Given the description of an element on the screen output the (x, y) to click on. 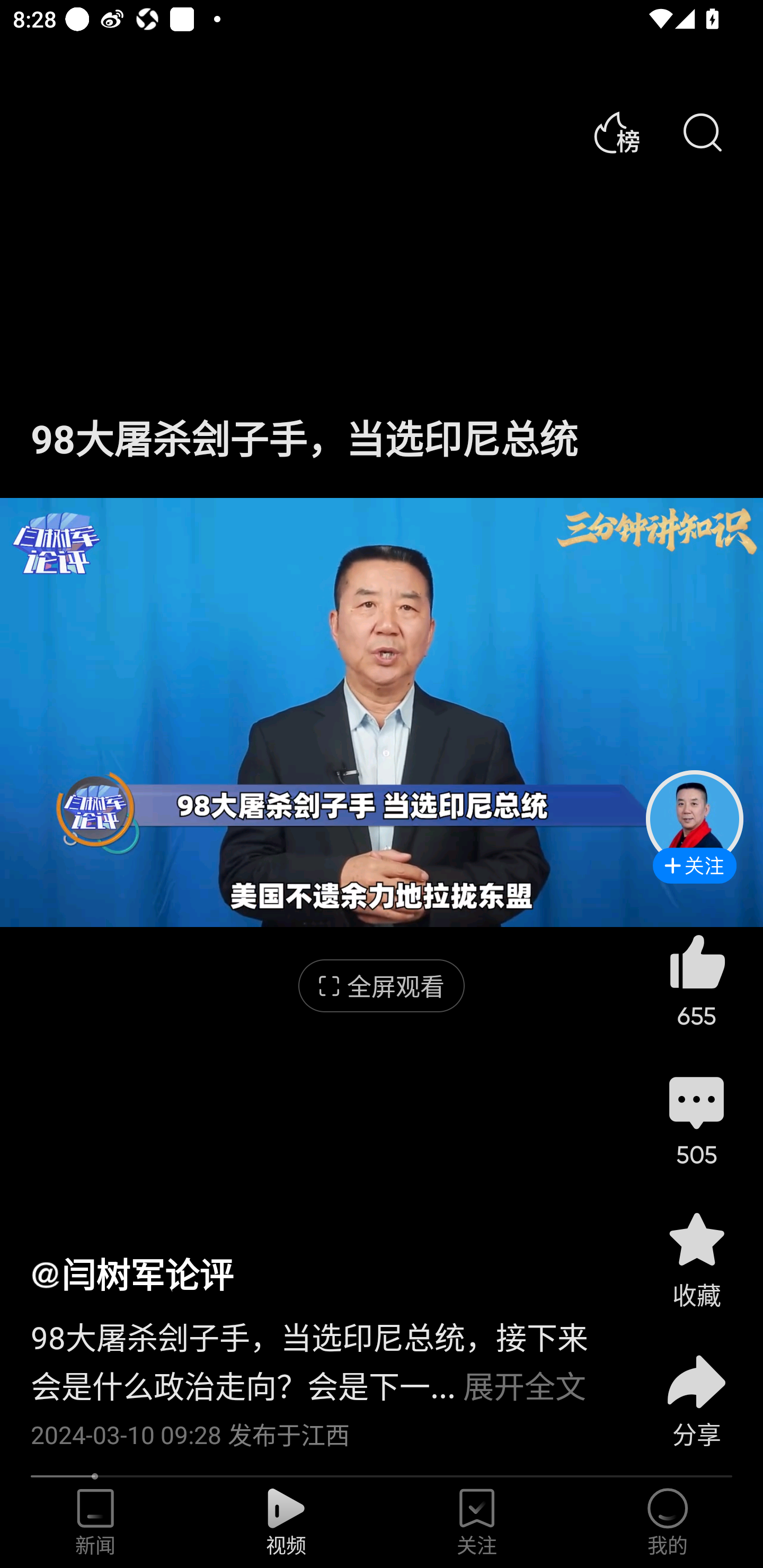
 热榜 (616, 133)
 搜索 (701, 133)
赞 655 (696, 979)
全屏观看 (381, 985)
评论  505 (696, 1118)
收藏 (696, 1258)
闫树军论评 (131, 1273)
分享  分享 (696, 1389)
